Given the description of an element on the screen output the (x, y) to click on. 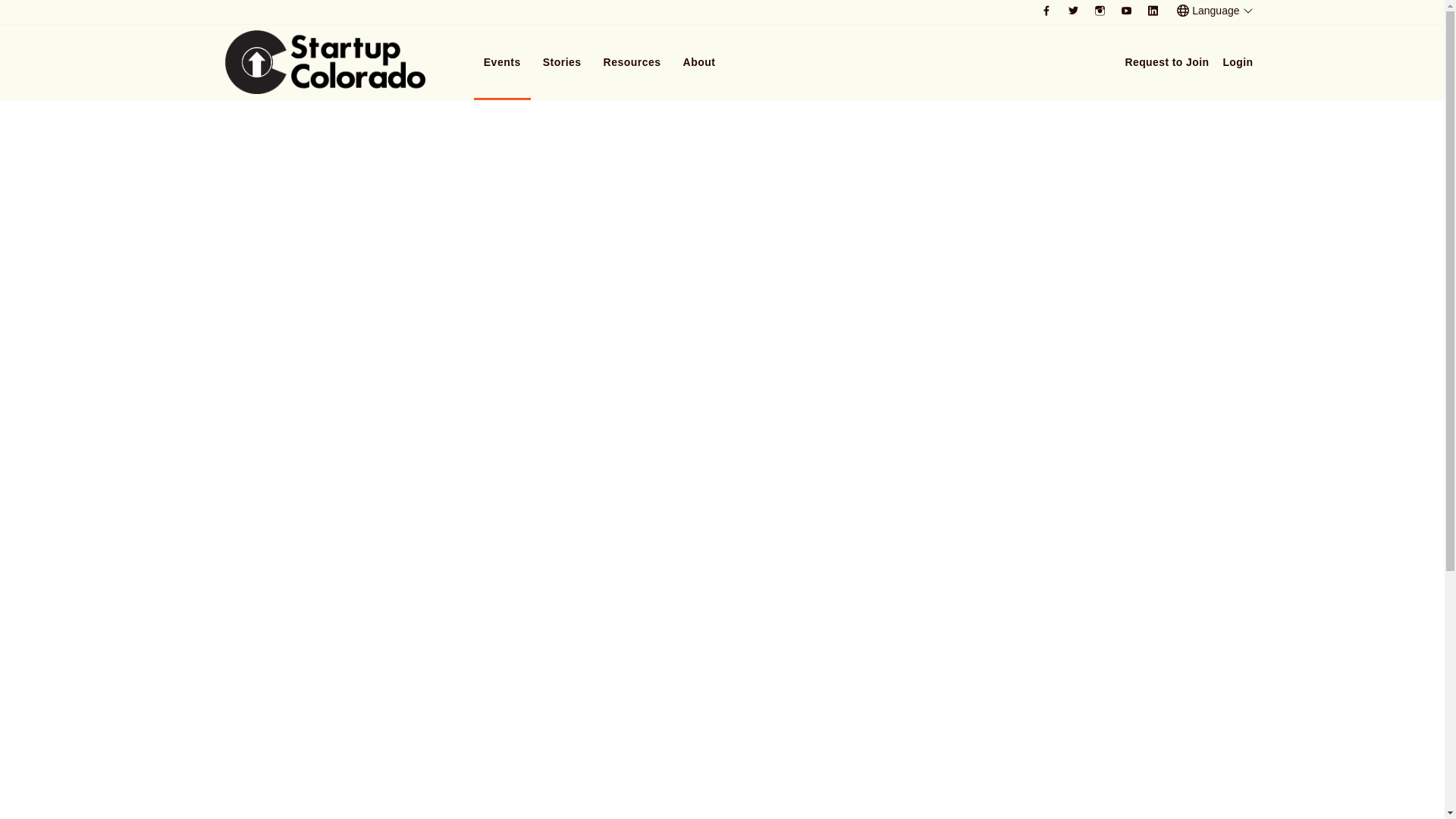
Request to Join (1166, 61)
Go to linkedin page (1152, 11)
Go to youtube page (1126, 11)
Resources (632, 61)
Go to instagram page (1099, 11)
Go to twitter page (1072, 11)
Go to facebook page (1046, 11)
